Given the description of an element on the screen output the (x, y) to click on. 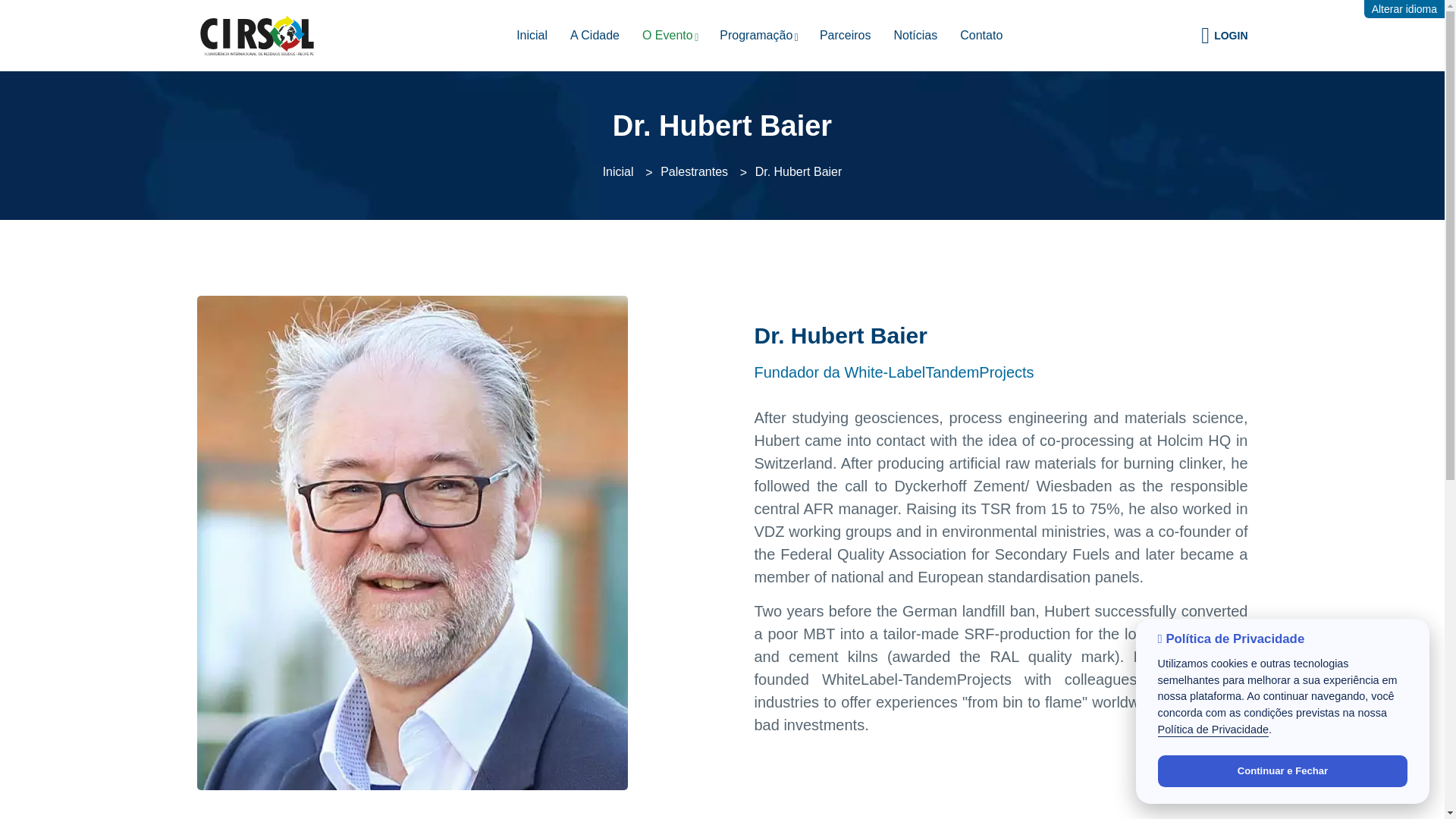
O Evento (669, 35)
Palestrantes (694, 171)
Parceiros (844, 35)
LOGIN (1224, 35)
Inicial (617, 171)
